Given the description of an element on the screen output the (x, y) to click on. 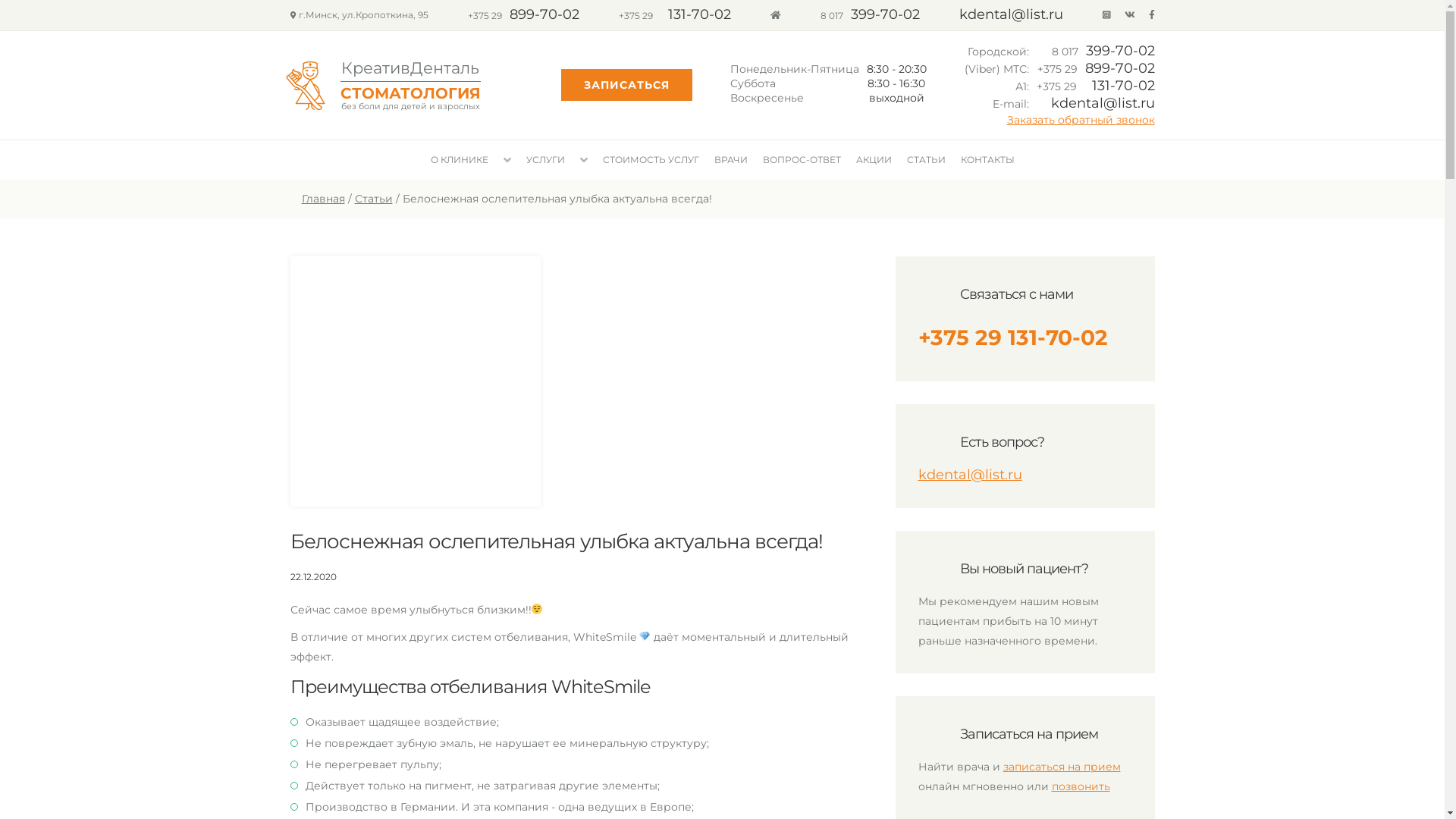
8 017  399-70-02 Element type: text (869, 15)
Instagram Element type: hover (1106, 14)
kdental@list.ru Element type: text (1010, 15)
+375 29  899-70-02 Element type: text (1095, 68)
Facebook Element type: hover (1151, 14)
8 017  399-70-02 Element type: text (1102, 51)
+375 29    131-70-02 Element type: text (674, 15)
+375 29    131-70-02 Element type: text (1094, 86)
+375 29 131-70-02 Element type: text (1012, 337)
kdental@list.ru Element type: text (969, 474)
kdental@list.ru Element type: text (1102, 103)
+375 29  899-70-02 Element type: text (522, 15)
